Given the description of an element on the screen output the (x, y) to click on. 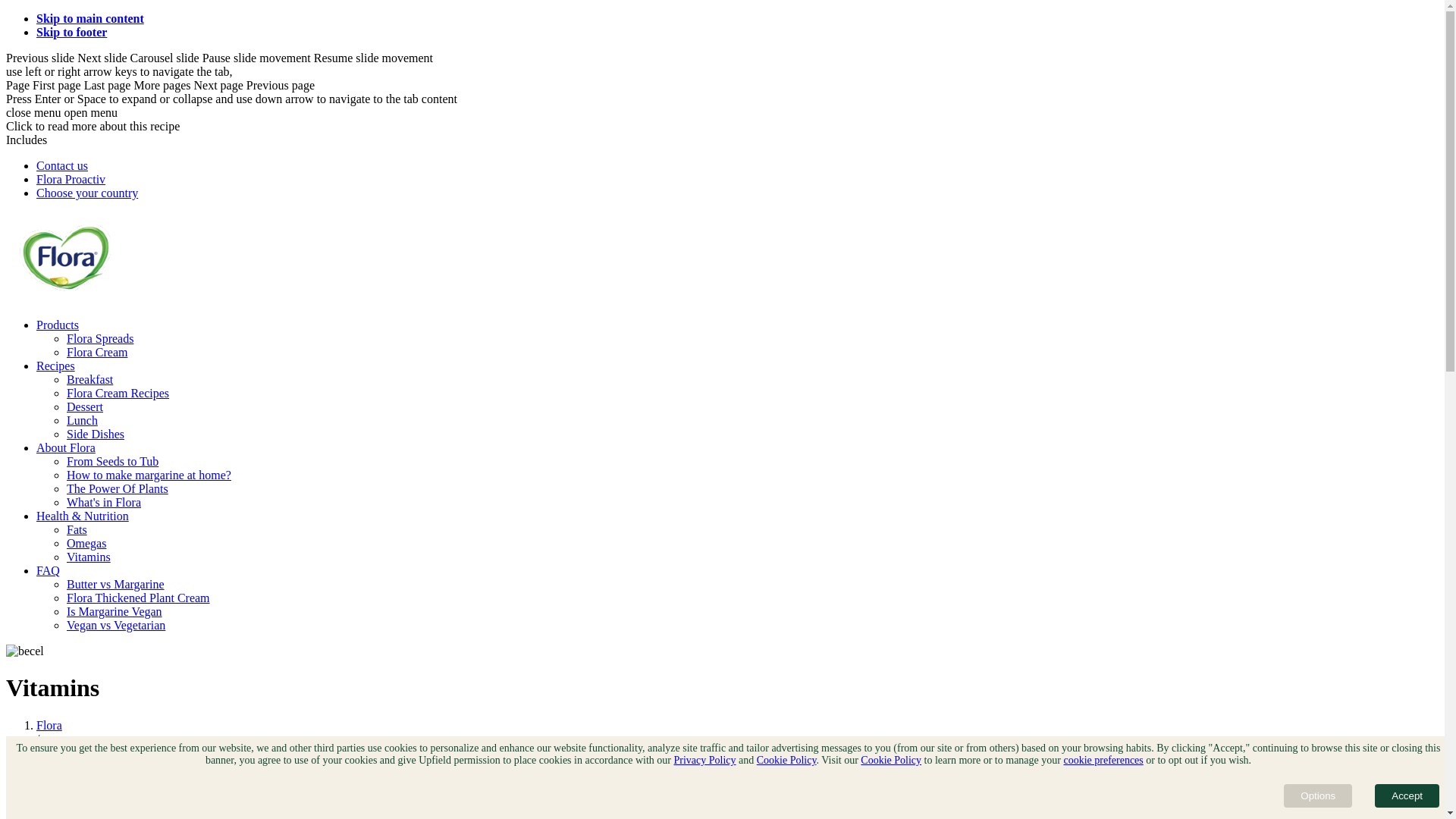
Accept Element type: text (1406, 795)
Contact us Element type: text (61, 165)
Flora Proactiv Element type: text (70, 178)
Flora Cream Element type: text (96, 351)
Vitamins Element type: text (88, 556)
Logo Black Element type: hover (65, 298)
Cookie Policy Element type: text (786, 759)
Flora Spreads Element type: text (99, 338)
Lunch Element type: text (81, 420)
Flora Element type: text (49, 724)
Vegan vs Vegetarian Element type: text (115, 624)
Recipes Element type: text (55, 365)
Is Margarine Vegan Element type: text (114, 611)
Skip to footer Element type: text (71, 31)
What's in Flora Element type: text (103, 501)
Health & Nutrition Element type: text (82, 515)
Fats Element type: text (76, 529)
Side Dishes Element type: text (95, 433)
Vitamins Element type: text (58, 779)
Health & Nutrition Element type: text (82, 752)
Omegas Element type: text (86, 542)
The Power Of Plants Element type: text (117, 488)
Flora Thickened Plant Cream Element type: text (138, 597)
About Flora Element type: text (65, 447)
Dessert Element type: text (84, 406)
Butter vs Margarine Element type: text (115, 583)
How to make margarine at home? Element type: text (148, 474)
cookie preferences Element type: text (1102, 759)
FAQ Element type: text (47, 570)
Products Element type: text (57, 324)
From Seeds to Tub Element type: text (112, 461)
Options Element type: text (1317, 795)
Skip to main content Element type: text (90, 18)
Flora Cream Recipes Element type: text (117, 392)
Breakfast Element type: text (89, 379)
Privacy Policy Element type: text (704, 759)
Cookie Policy Element type: text (890, 759)
Choose your country Element type: text (87, 192)
